Given the description of an element on the screen output the (x, y) to click on. 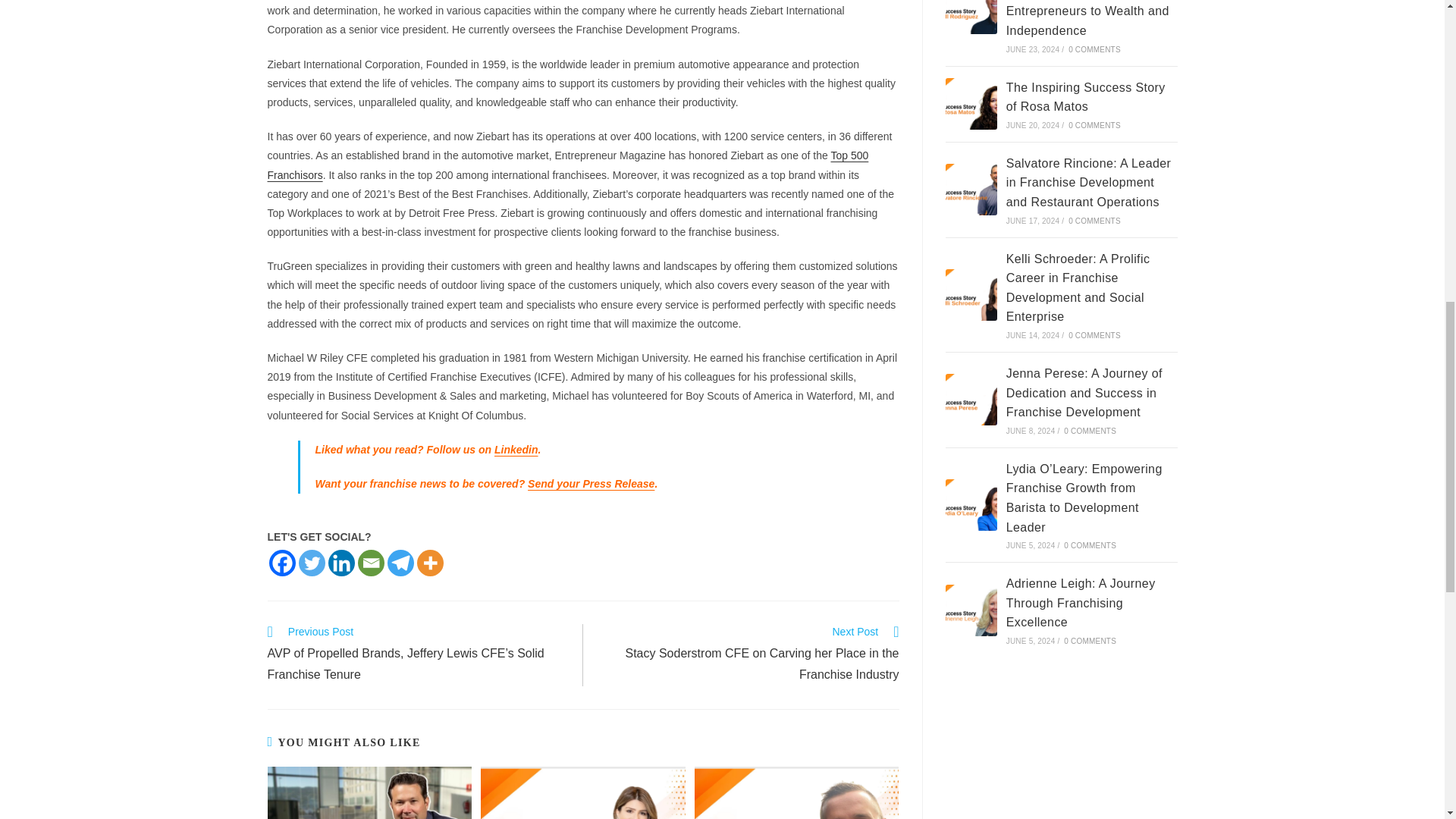
Linkedin (340, 561)
Twitter (311, 561)
Linkedin (516, 449)
Telegram (400, 561)
Email (371, 561)
Send your Press Release (590, 483)
Facebook (281, 561)
Top 500 Franchisors (566, 164)
More (430, 561)
